Given the description of an element on the screen output the (x, y) to click on. 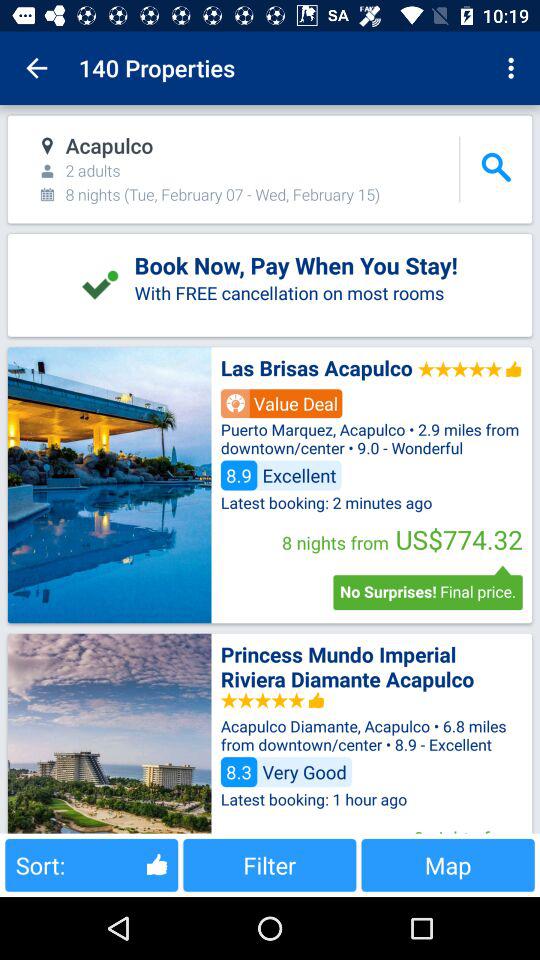
click the item to the right of the sort:  icon (269, 864)
